Given the description of an element on the screen output the (x, y) to click on. 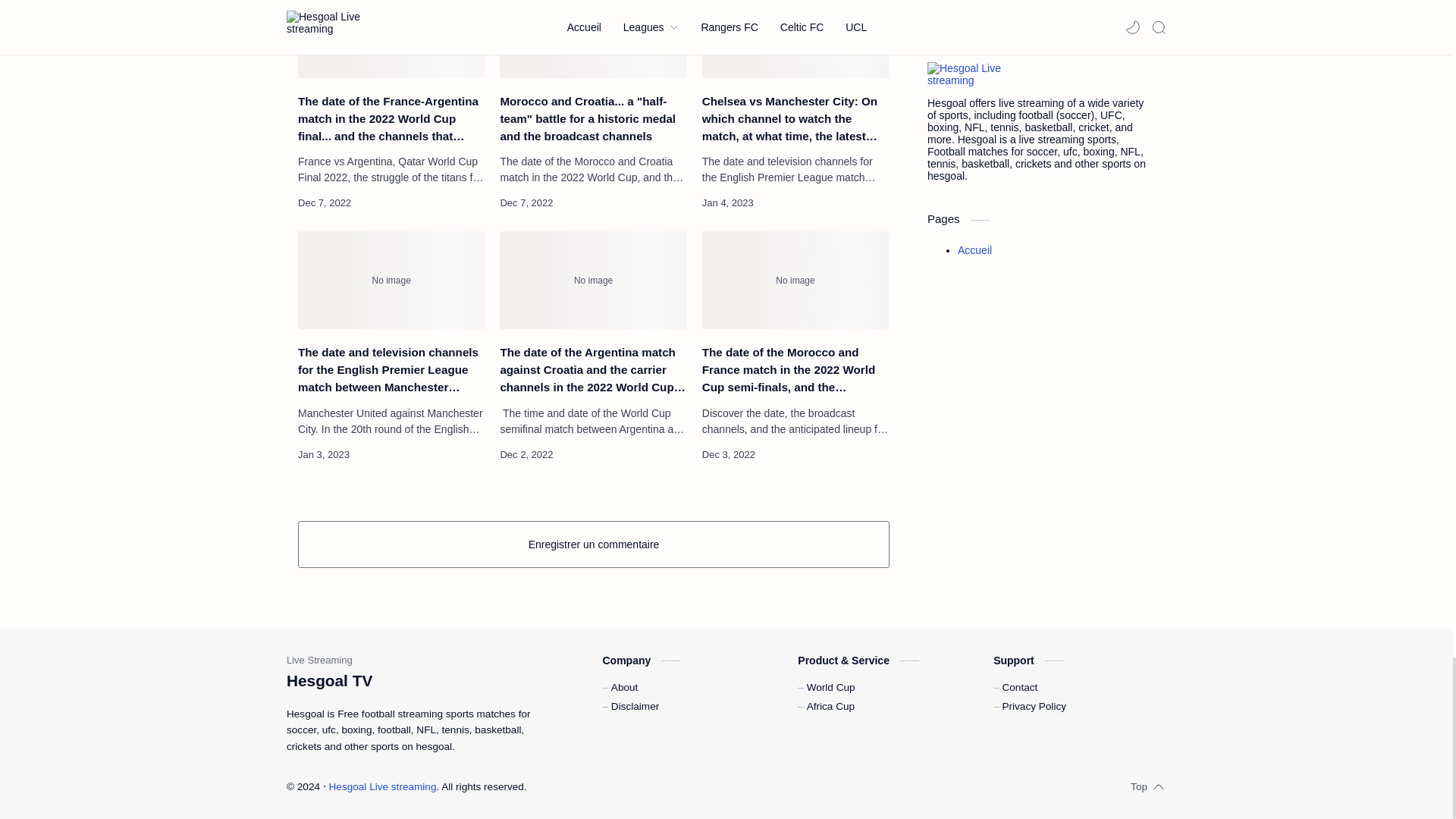
Morocco and Croatia... a  (592, 38)
